Given the description of an element on the screen output the (x, y) to click on. 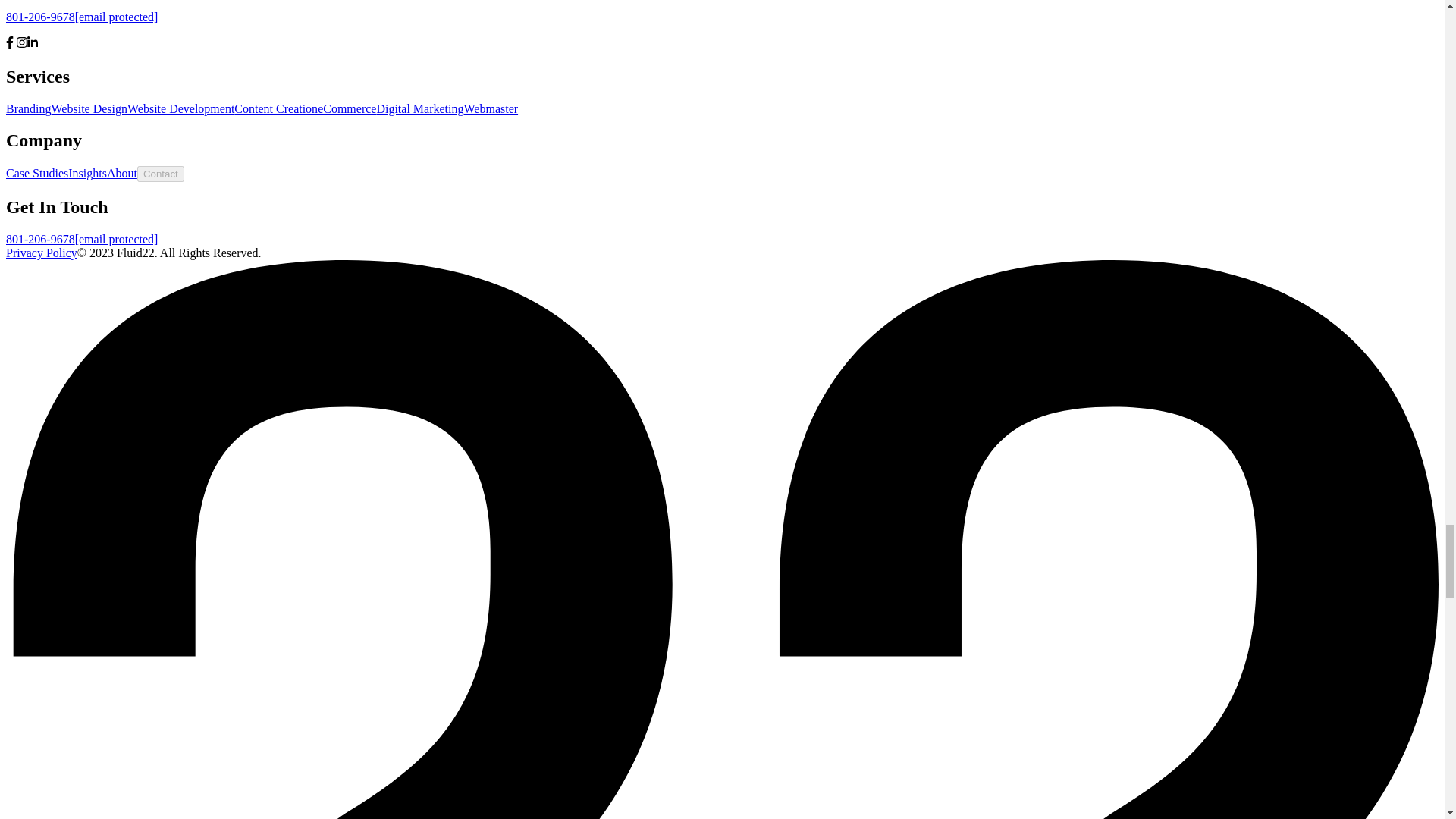
801-206-9678 (40, 16)
